Given the description of an element on the screen output the (x, y) to click on. 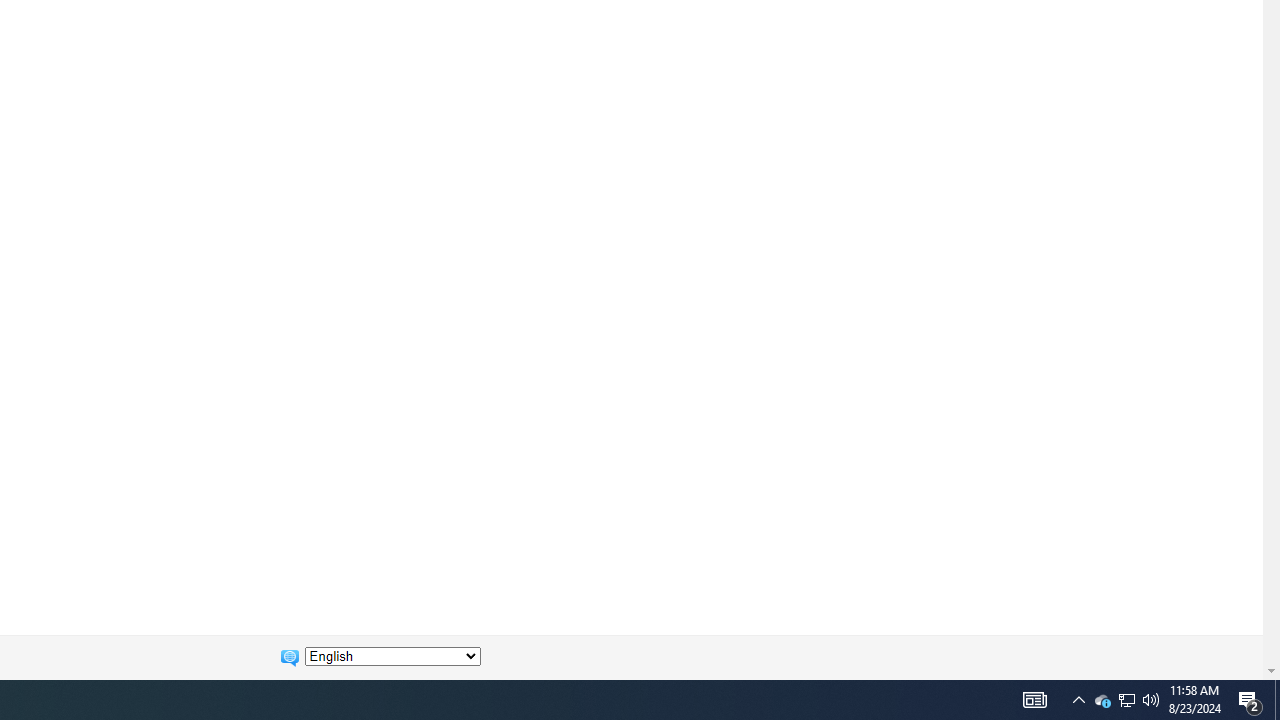
Change language: (392, 656)
